Given the description of an element on the screen output the (x, y) to click on. 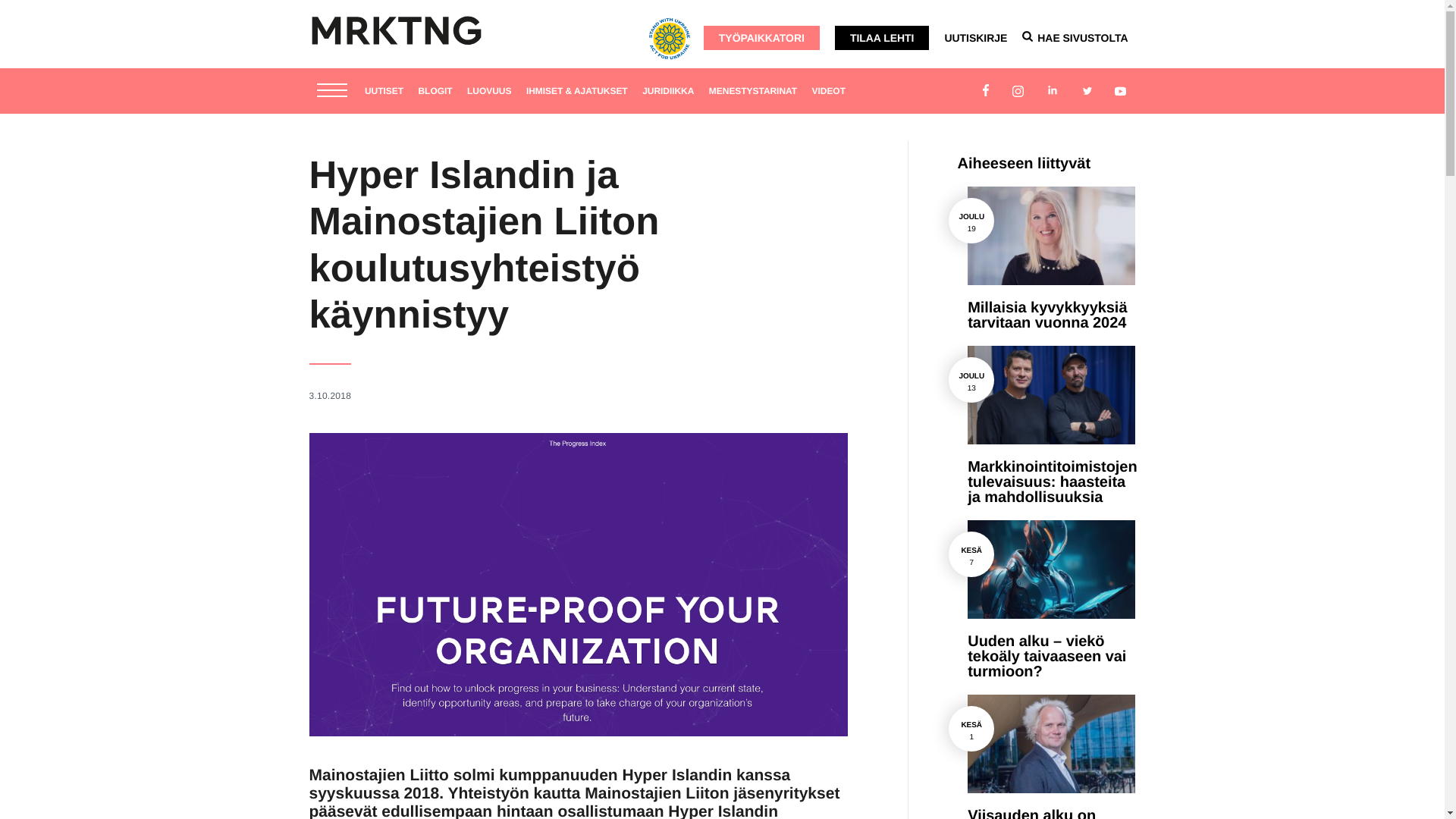
JURIDIIKKA (674, 87)
VIDEOT (834, 87)
LUOVUUS (494, 87)
TILAA LEHTI (882, 37)
HAKUHAE SIVUSTOLTA (1074, 37)
MRKTNG (395, 30)
MENESTYSTARINAT (759, 87)
Menu (331, 91)
UUTISKIRJE (975, 37)
UUTISET (389, 87)
HAKU (1027, 36)
Skip to content (395, 42)
